Given the description of an element on the screen output the (x, y) to click on. 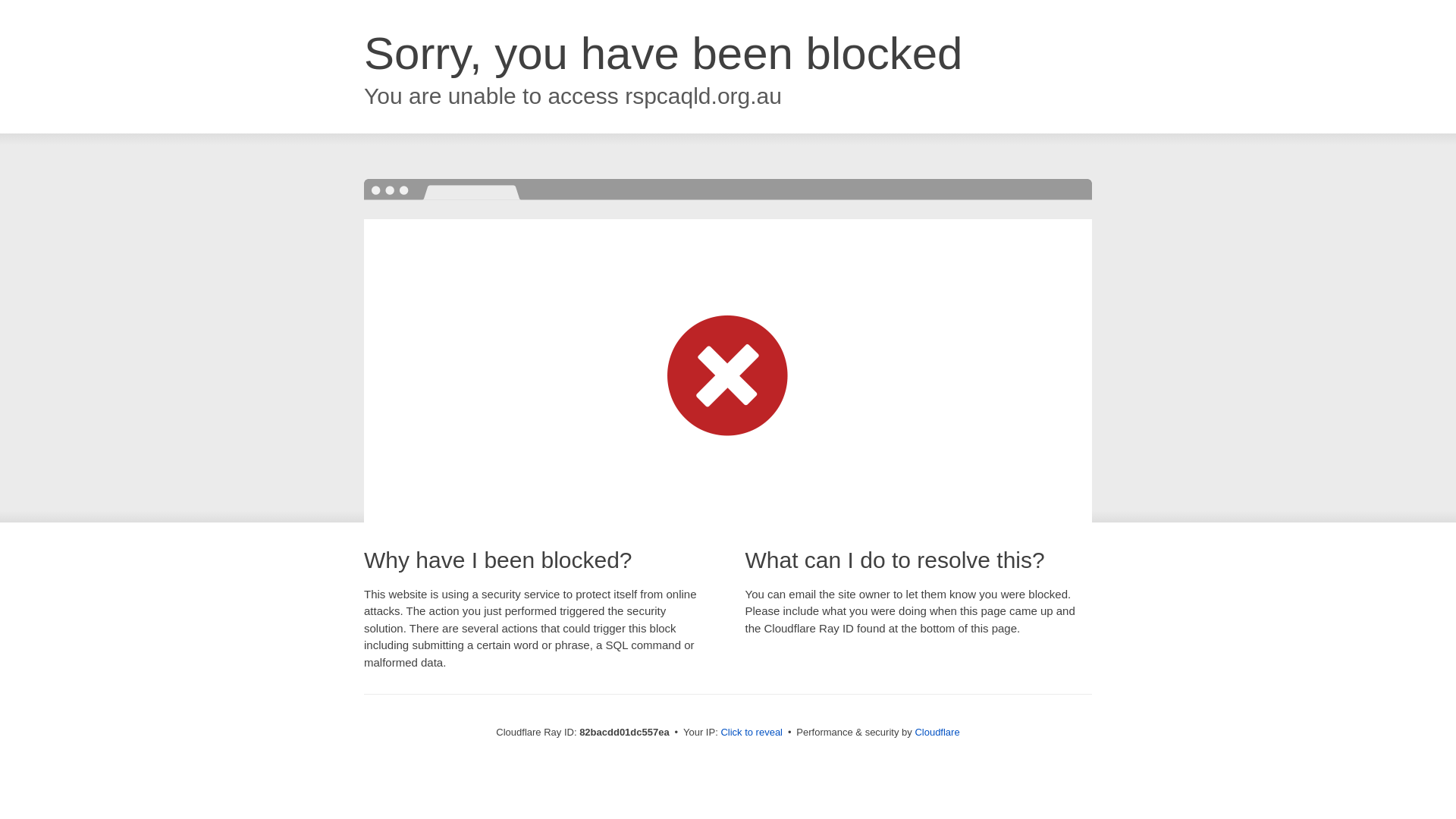
Cloudflare Element type: text (936, 731)
Click to reveal Element type: text (751, 732)
